Given the description of an element on the screen output the (x, y) to click on. 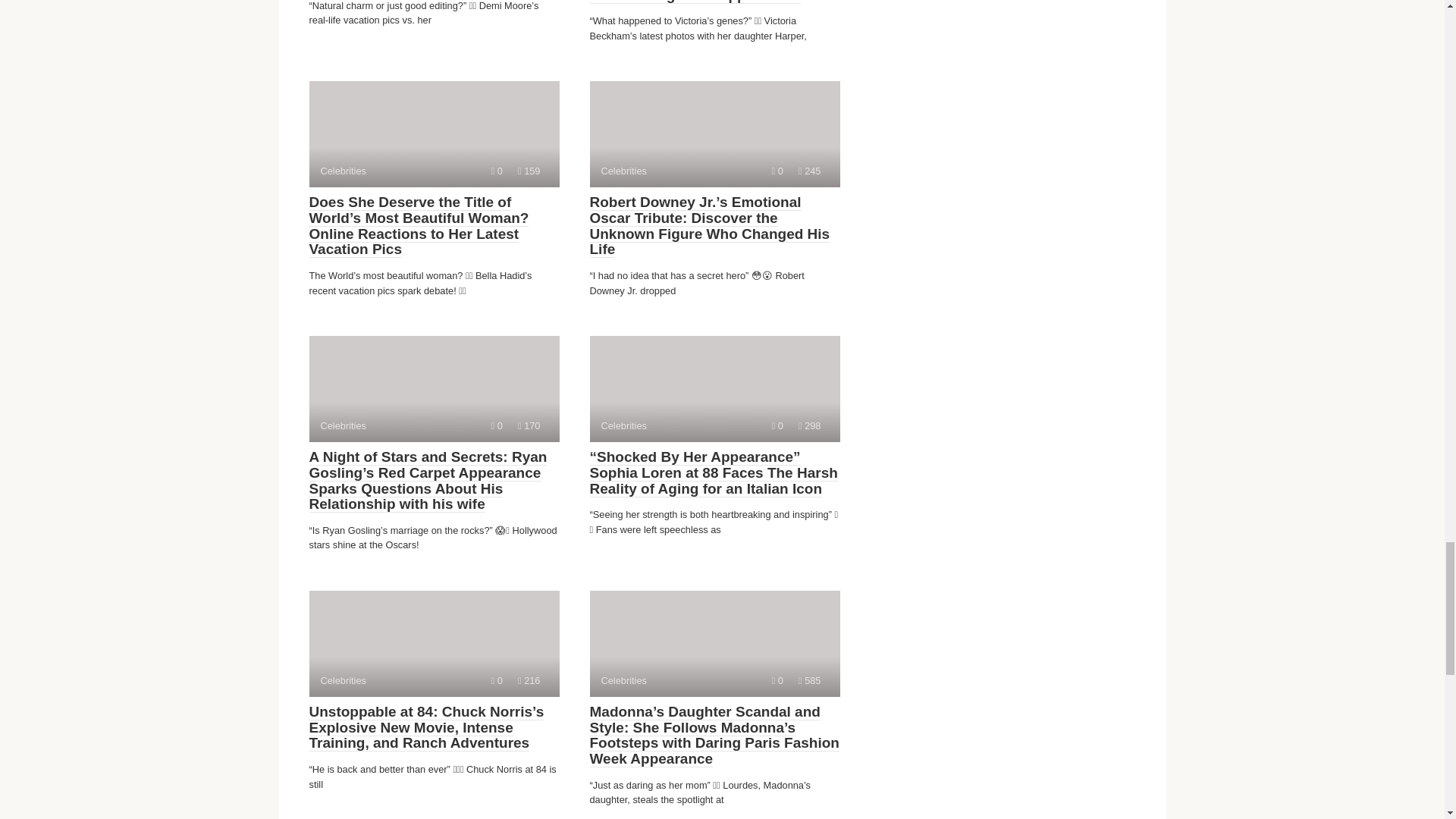
Views (714, 134)
Comments (714, 388)
Comments (433, 388)
